Given the description of an element on the screen output the (x, y) to click on. 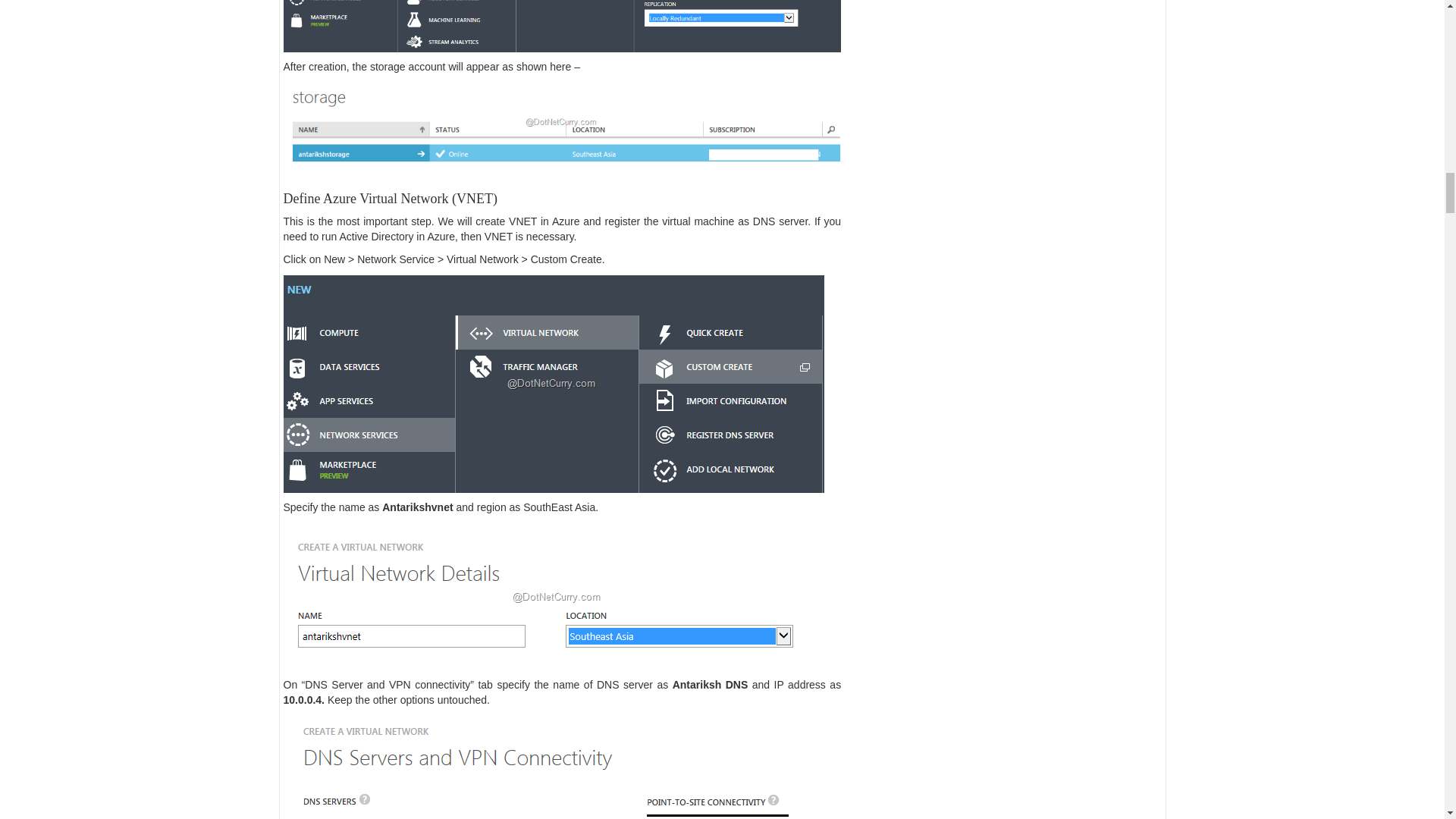
create-storage1 (562, 26)
create-vnet1 (553, 384)
create-vnet3 (536, 767)
create-vnet2 (557, 596)
create-storage2 (562, 121)
